Given the description of an element on the screen output the (x, y) to click on. 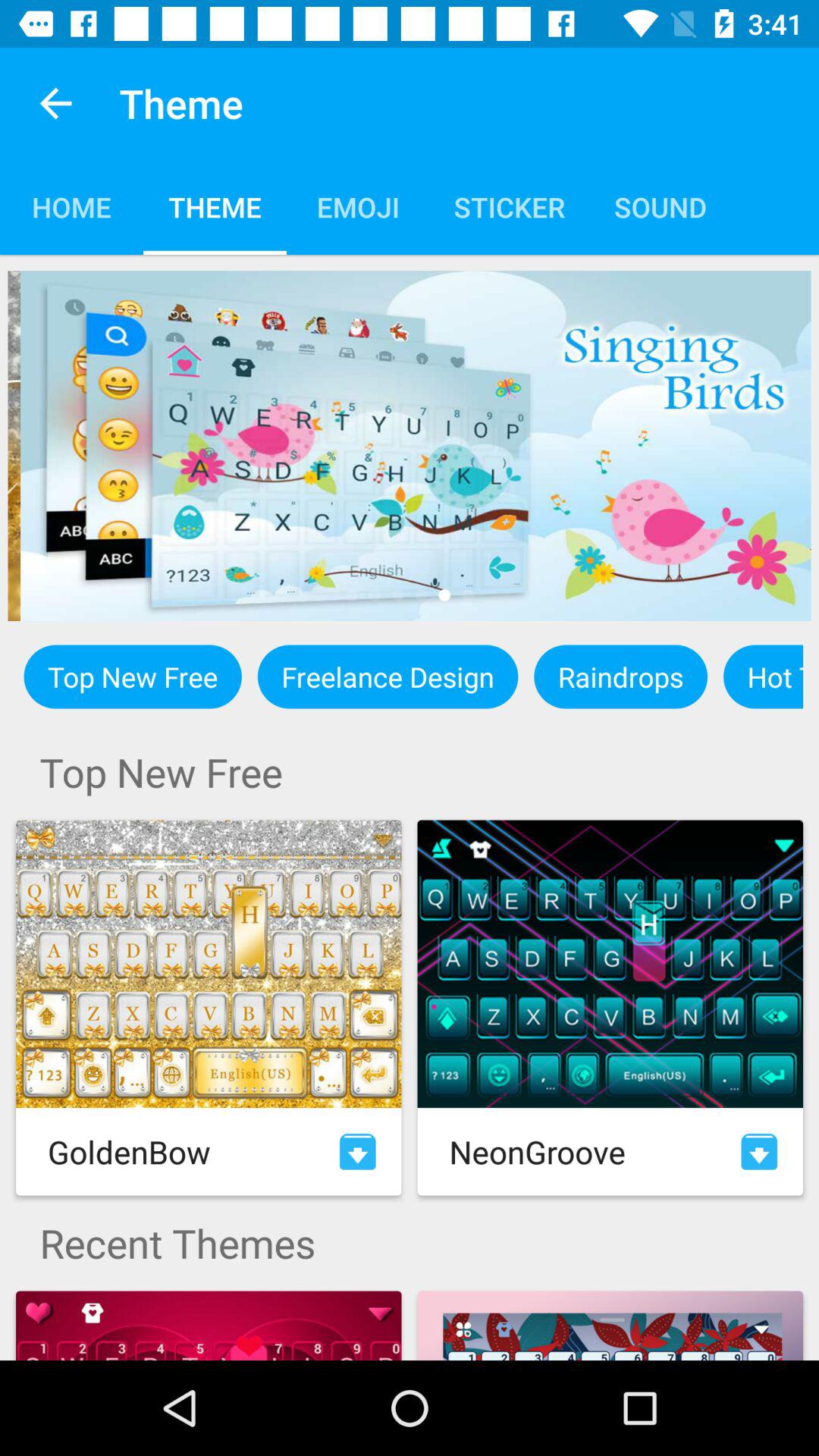
download goldenbow (357, 1151)
